Given the description of an element on the screen output the (x, y) to click on. 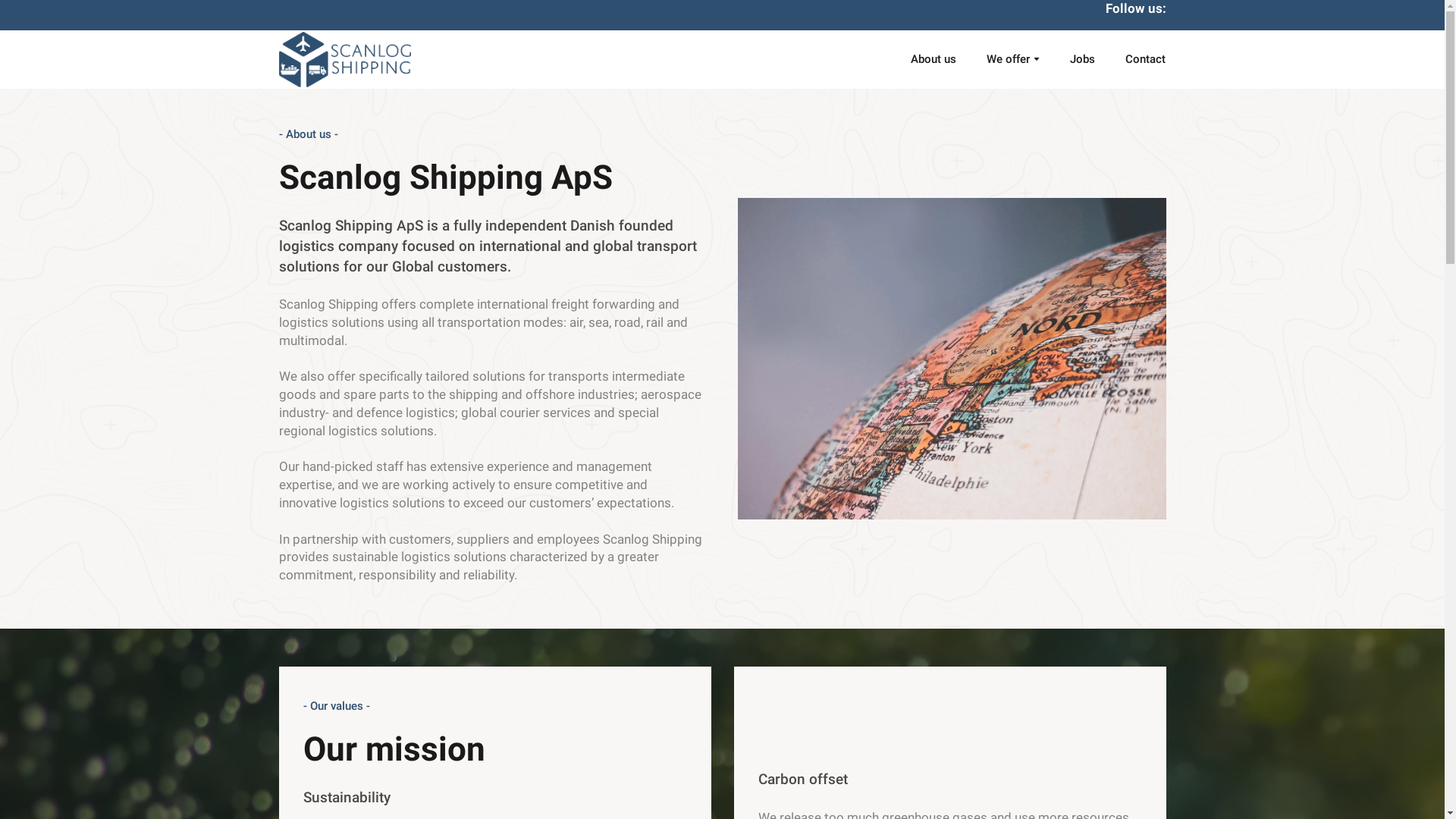
Contact (1145, 59)
Jobs (1082, 59)
About us (933, 59)
We offer (1008, 59)
